Given the description of an element on the screen output the (x, y) to click on. 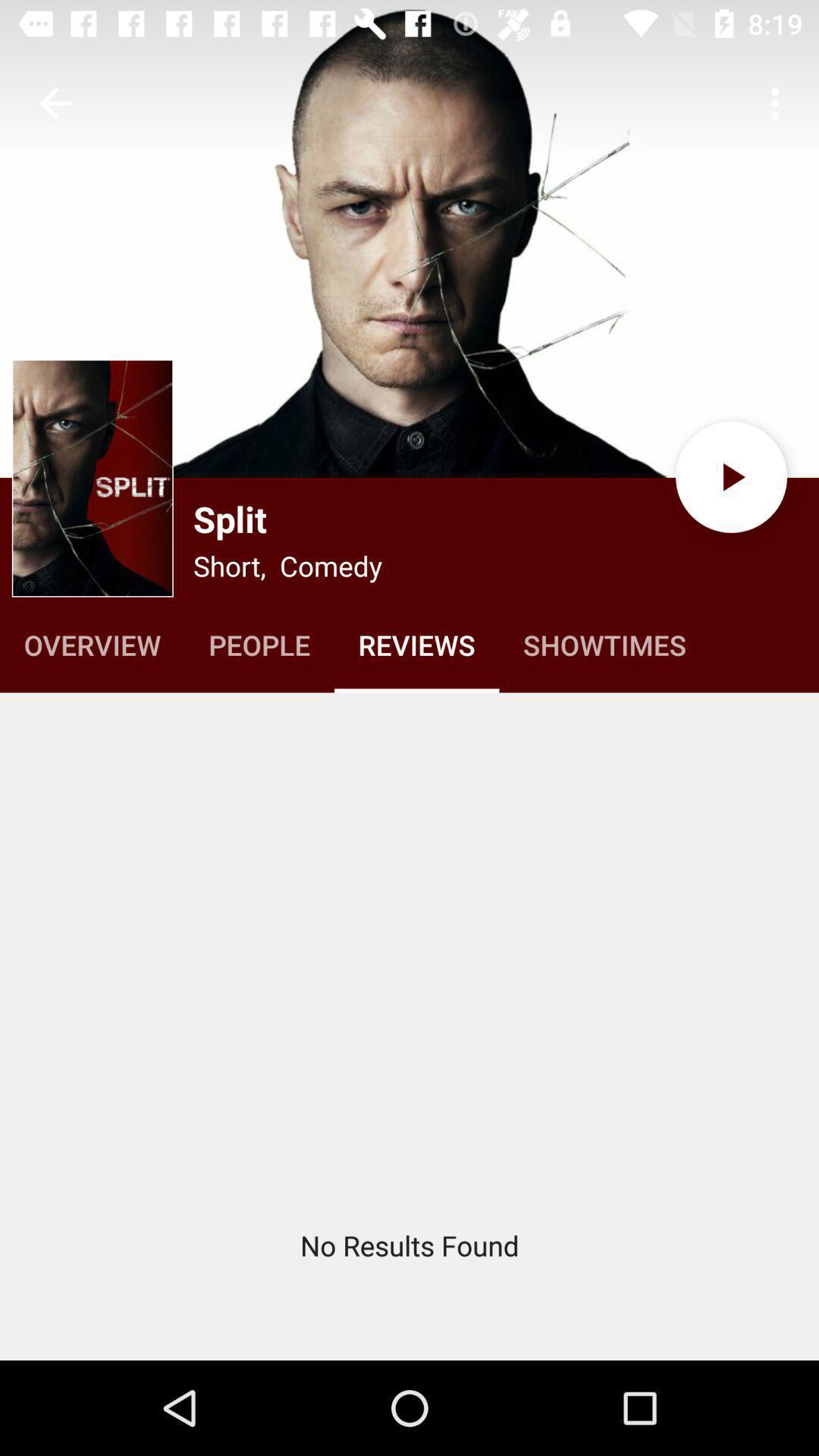
play (731, 476)
